Given the description of an element on the screen output the (x, y) to click on. 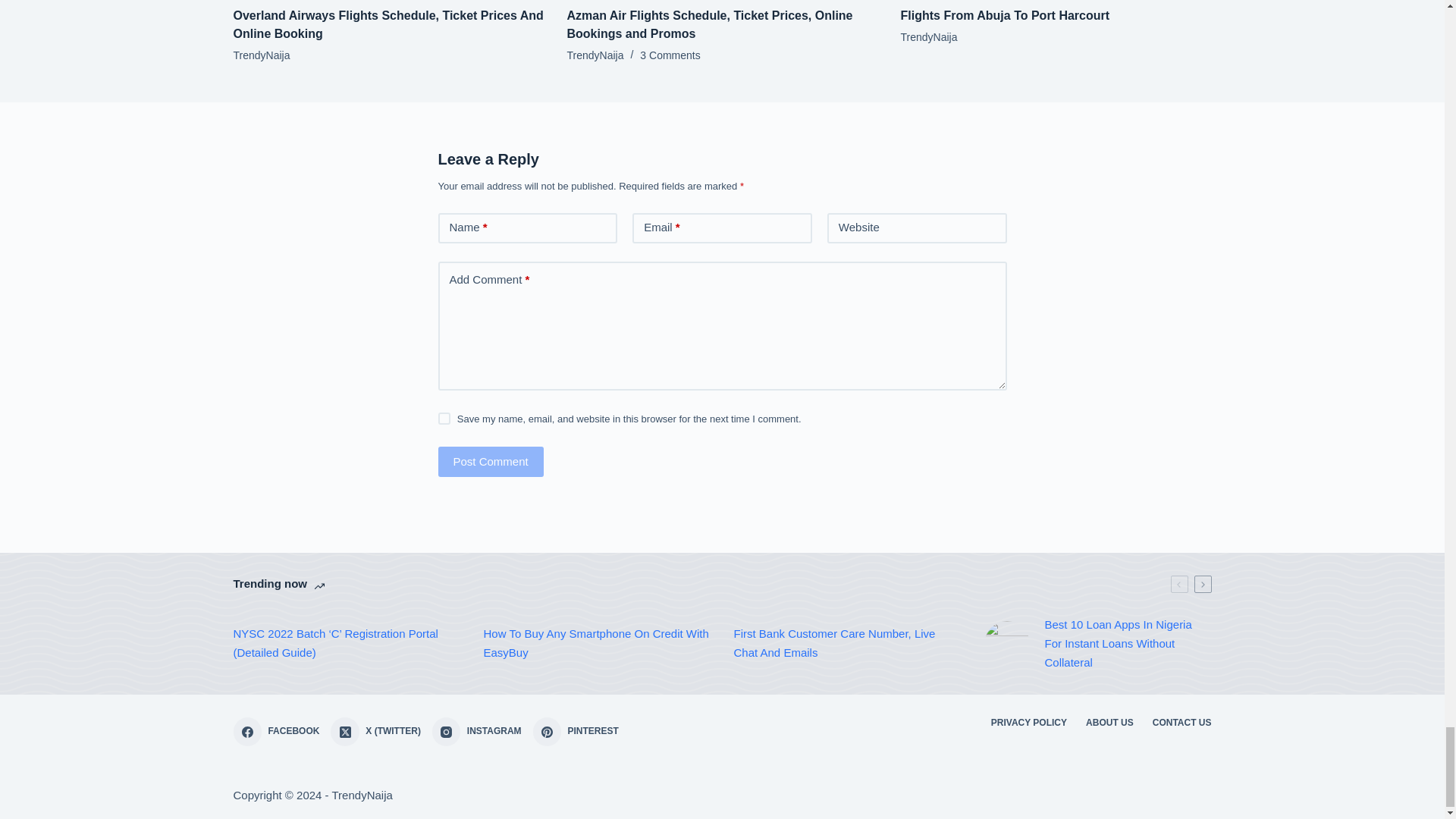
Posts by TrendyNaija (929, 37)
yes (443, 418)
Posts by TrendyNaija (260, 55)
Posts by TrendyNaija (595, 55)
